Given the description of an element on the screen output the (x, y) to click on. 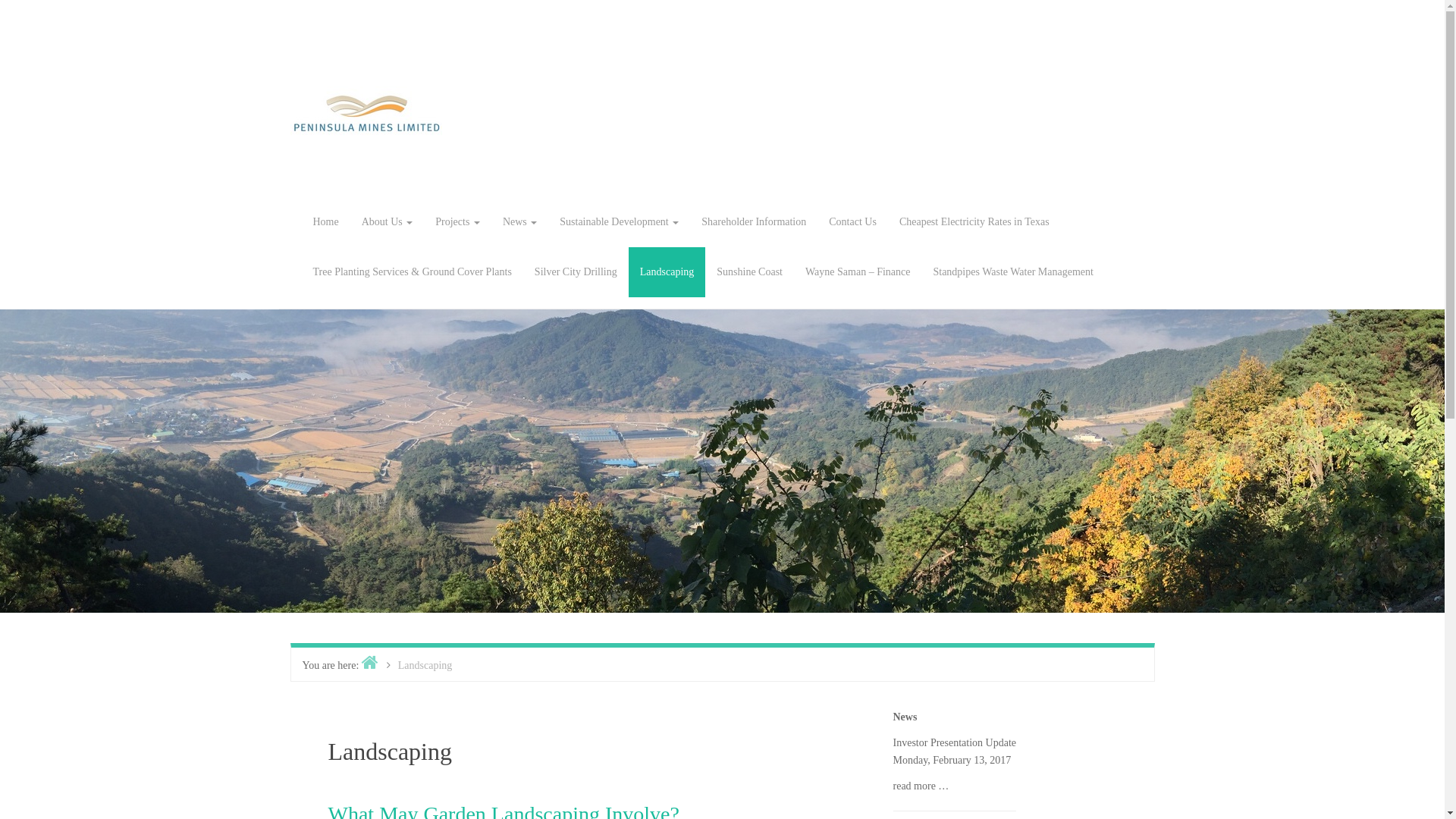
Home Element type: text (369, 663)
Sustainable Development Element type: text (619, 222)
Contact Us Element type: text (852, 222)
Sunshine Coast Element type: text (749, 272)
Home Element type: text (325, 222)
News Element type: text (519, 222)
Landscaping Element type: text (667, 272)
Standpipes Waste Water Management Element type: text (1012, 272)
Shareholder Information Element type: text (753, 222)
Projects Element type: text (457, 222)
Cheapest Electricity Rates in Texas Element type: text (974, 222)
Tree Planting Services & Ground Cover Plants Element type: text (412, 272)
Silver City Drilling Element type: text (575, 272)
About Us Element type: text (387, 222)
Peninsula Mines Limited Element type: hover (365, 112)
